Given the description of an element on the screen output the (x, y) to click on. 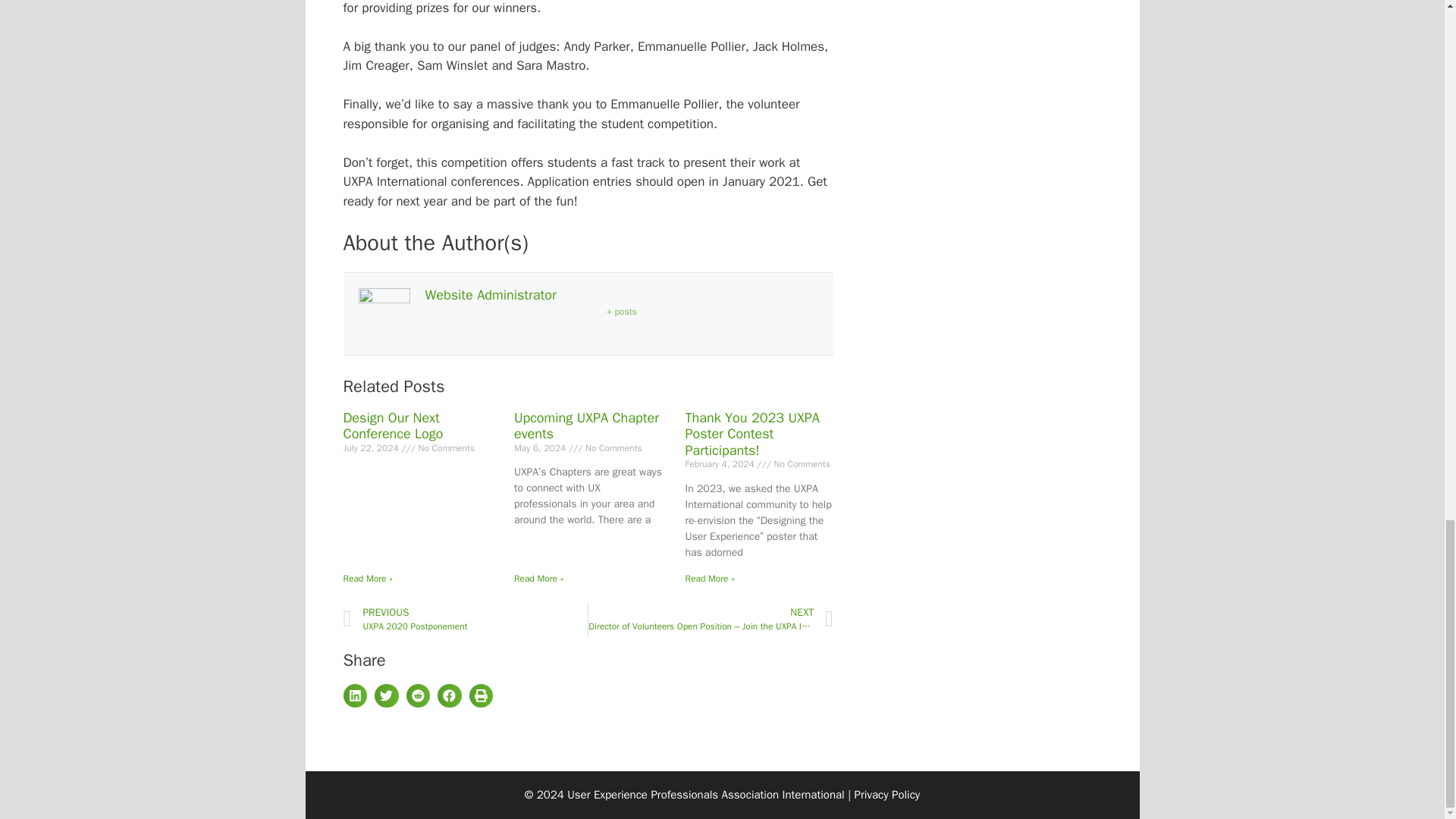
Scroll back to top (1406, 88)
